Given the description of an element on the screen output the (x, y) to click on. 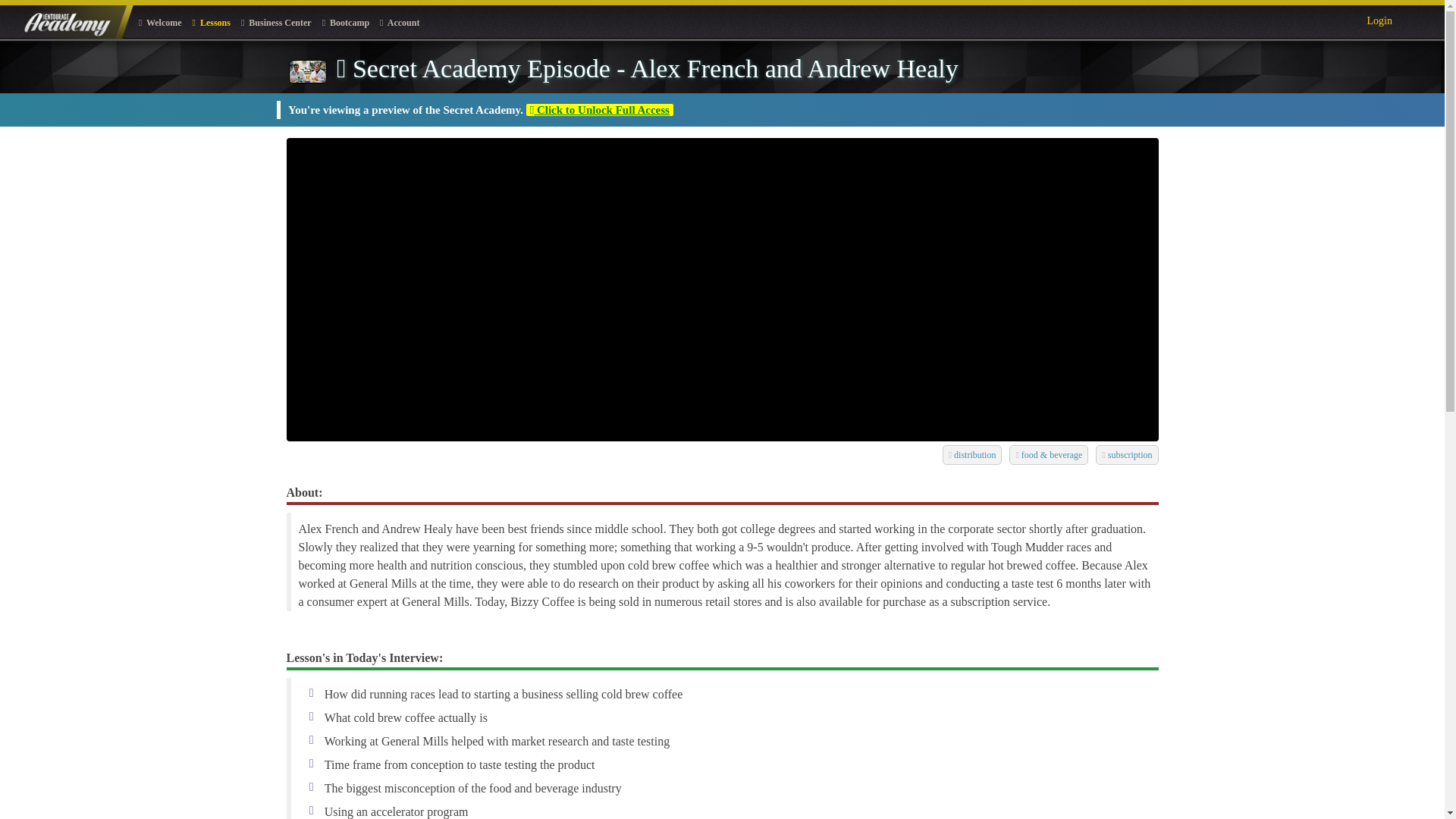
Login to the Secret Academy (1379, 18)
distribution (968, 453)
Welcome (160, 22)
Click to Unlock Full Access (598, 110)
Bootcamp (345, 22)
Login (1379, 18)
Business Center (276, 22)
Academy Home (73, 21)
You're viewing a preview of the Secret Academy. (406, 110)
subscription (1122, 453)
